Given the description of an element on the screen output the (x, y) to click on. 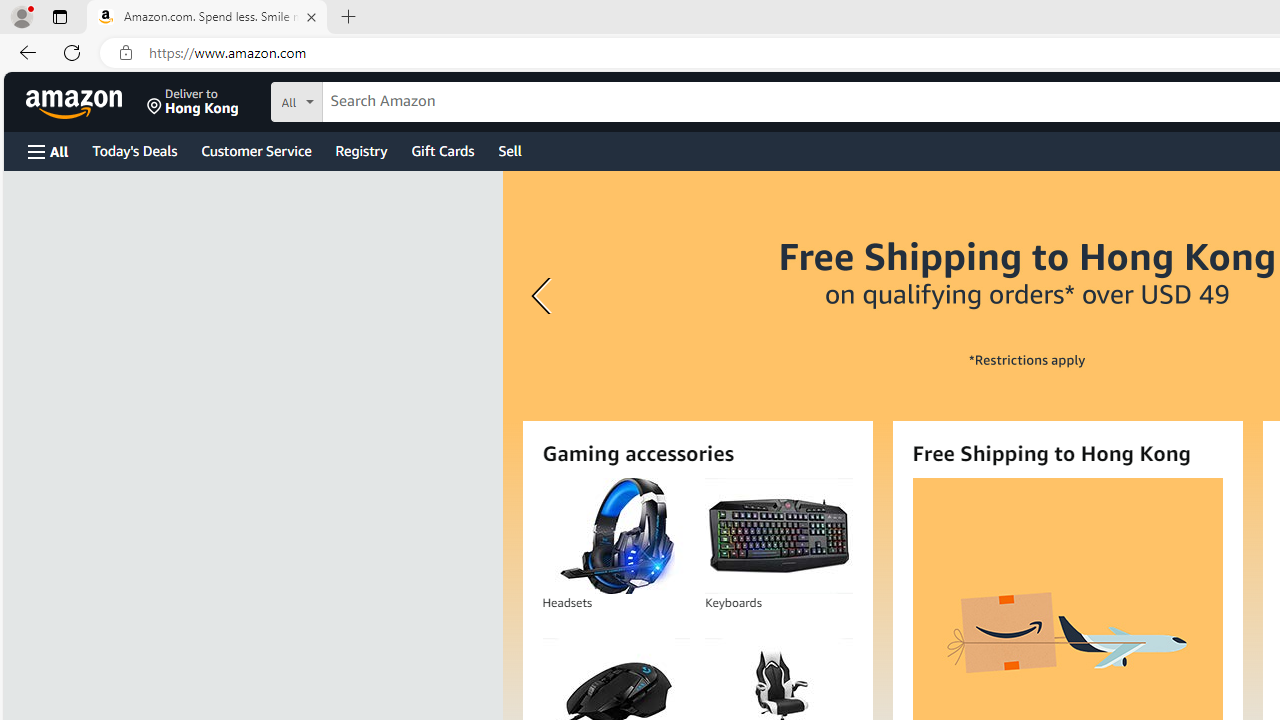
Tab actions menu (59, 16)
Terminal (322, 16)
View site information (125, 53)
Selection (141, 16)
Views and More Actions... (279, 52)
Edit (89, 16)
Open Menu (48, 151)
Sell (509, 150)
Python (24, 346)
Run (271, 16)
Customer Service (256, 150)
Keyboards (778, 536)
New Tab (349, 17)
